Given the description of an element on the screen output the (x, y) to click on. 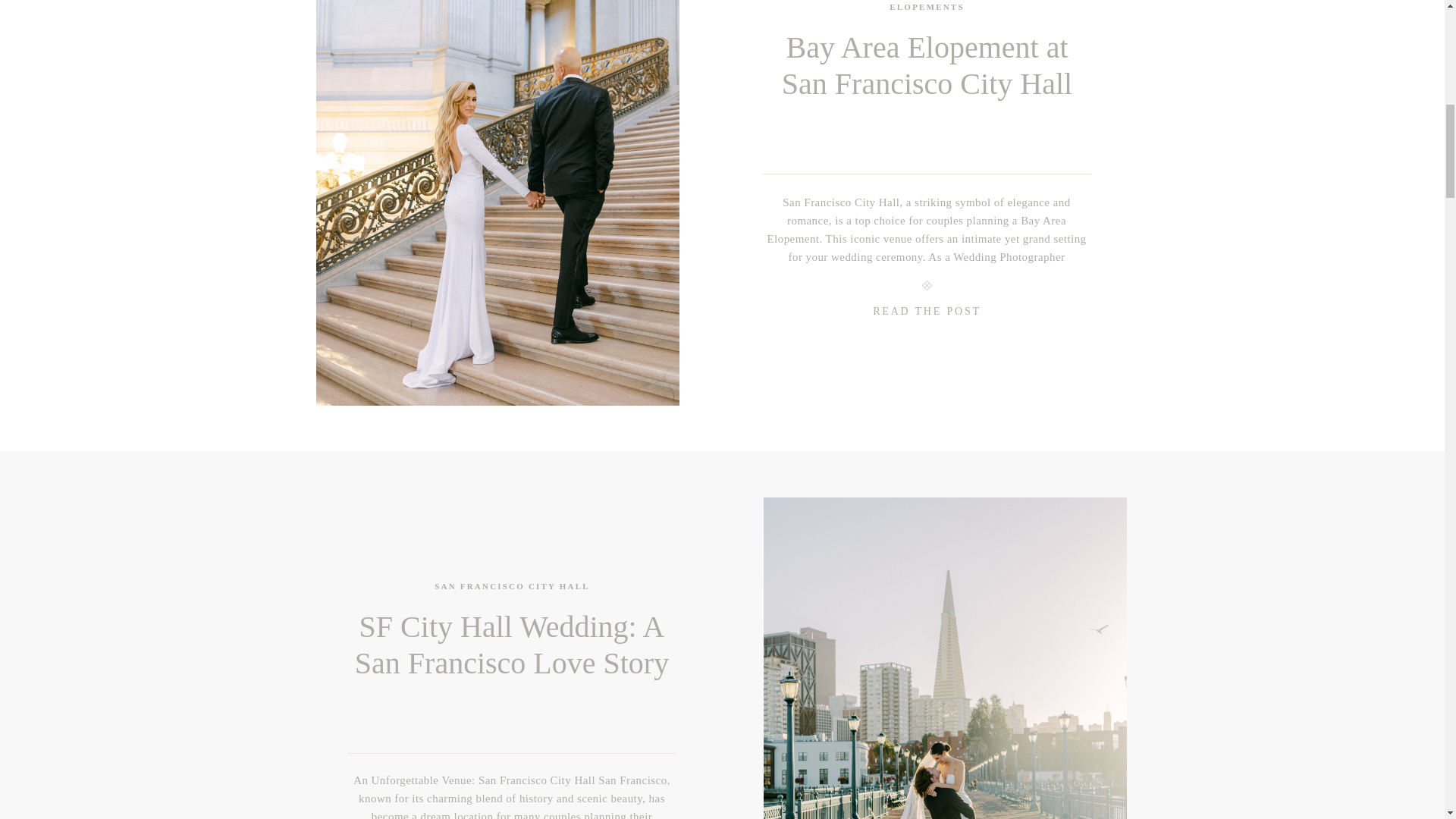
ELOPEMENTS (926, 6)
Bay Area Elopement at San Francisco City Hall (926, 315)
READ THE POST (926, 315)
SF City Hall Wedding: A San Francisco Love Story (511, 644)
Bay Area Elopement at San Francisco City Hall (926, 65)
SF City Hall Wedding: A San Francisco Love Story (943, 658)
SAN FRANCISCO CITY HALL (511, 585)
